Given the description of an element on the screen output the (x, y) to click on. 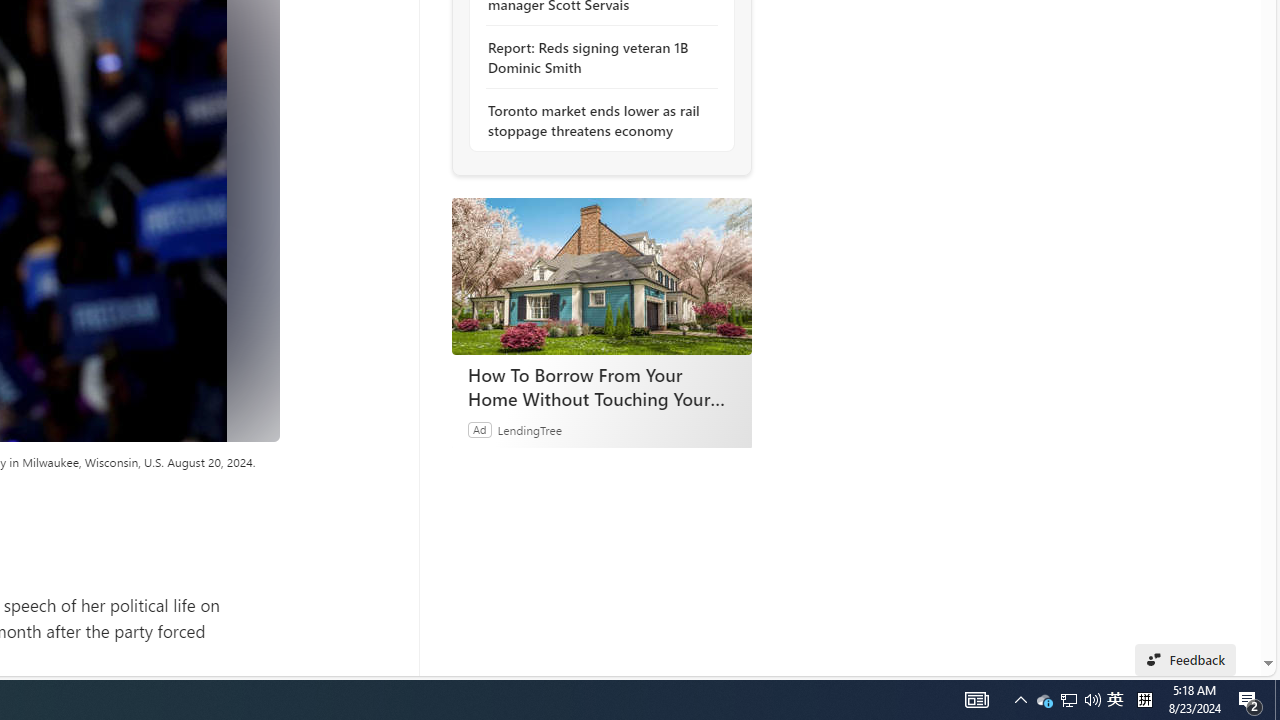
Q2790: 100% (1092, 699)
Report: Reds signing veteran 1B Dominic Smith (1069, 699)
Tray Input Indicator - Chinese (Simplified, China) (596, 57)
How To Borrow From Your Home Without Touching Your Mortgage (1144, 699)
How To Borrow From Your Home Without Touching Your Mortgage (601, 386)
Ad (601, 276)
AutomationID: 4105 (479, 429)
Feedback (1115, 699)
LendingTree (976, 699)
Toronto market ends lower as rail stoppage threatens economy (1185, 659)
Action Center, 2 new notifications (528, 429)
Notification Chevron (596, 120)
